Given the description of an element on the screen output the (x, y) to click on. 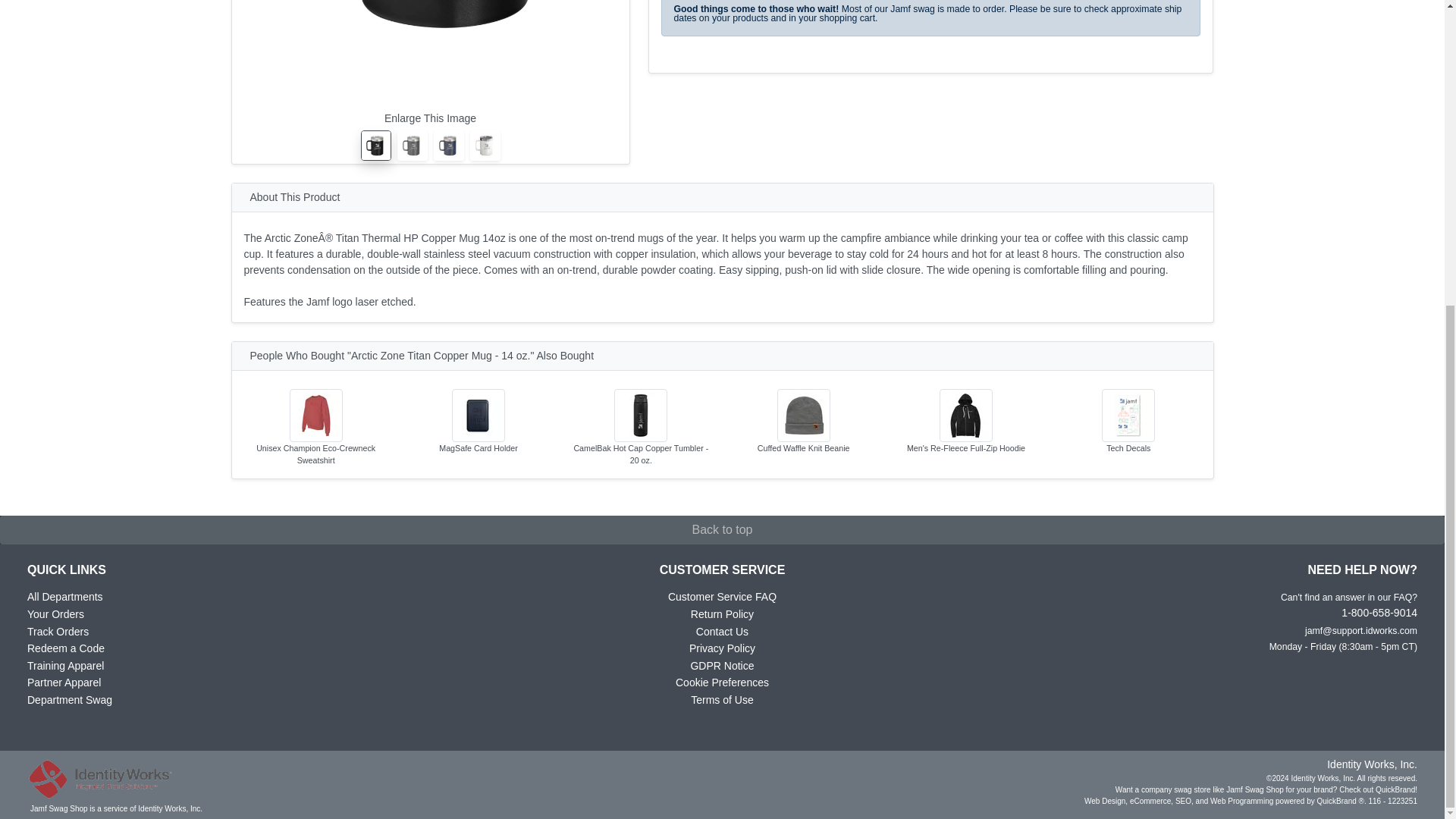
Unisex Champion Eco-Crewneck Sweatshirt (316, 437)
CamelBak Hot Cap Copper Tumbler - 20 oz. (641, 437)
MagSafe Card Holder (478, 431)
